Given the description of an element on the screen output the (x, y) to click on. 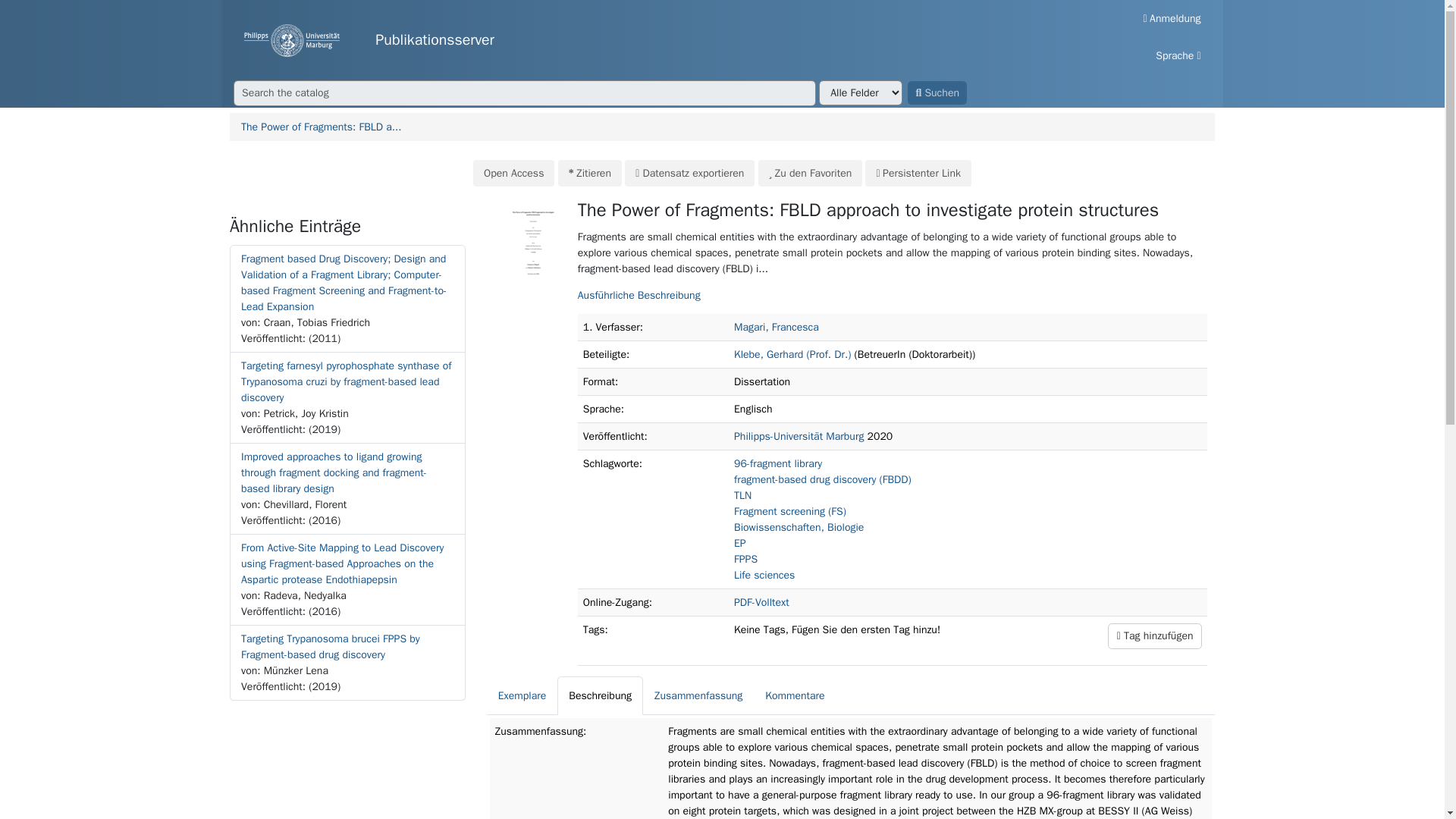
Life sciences (763, 574)
Anmeldung (1171, 18)
TLN (742, 495)
Publikationsserver (654, 40)
EP (739, 543)
Sprache (1177, 55)
96-fragment library (777, 463)
FPPS (745, 558)
Biowissenschaften, Biologie (798, 526)
